Given the description of an element on the screen output the (x, y) to click on. 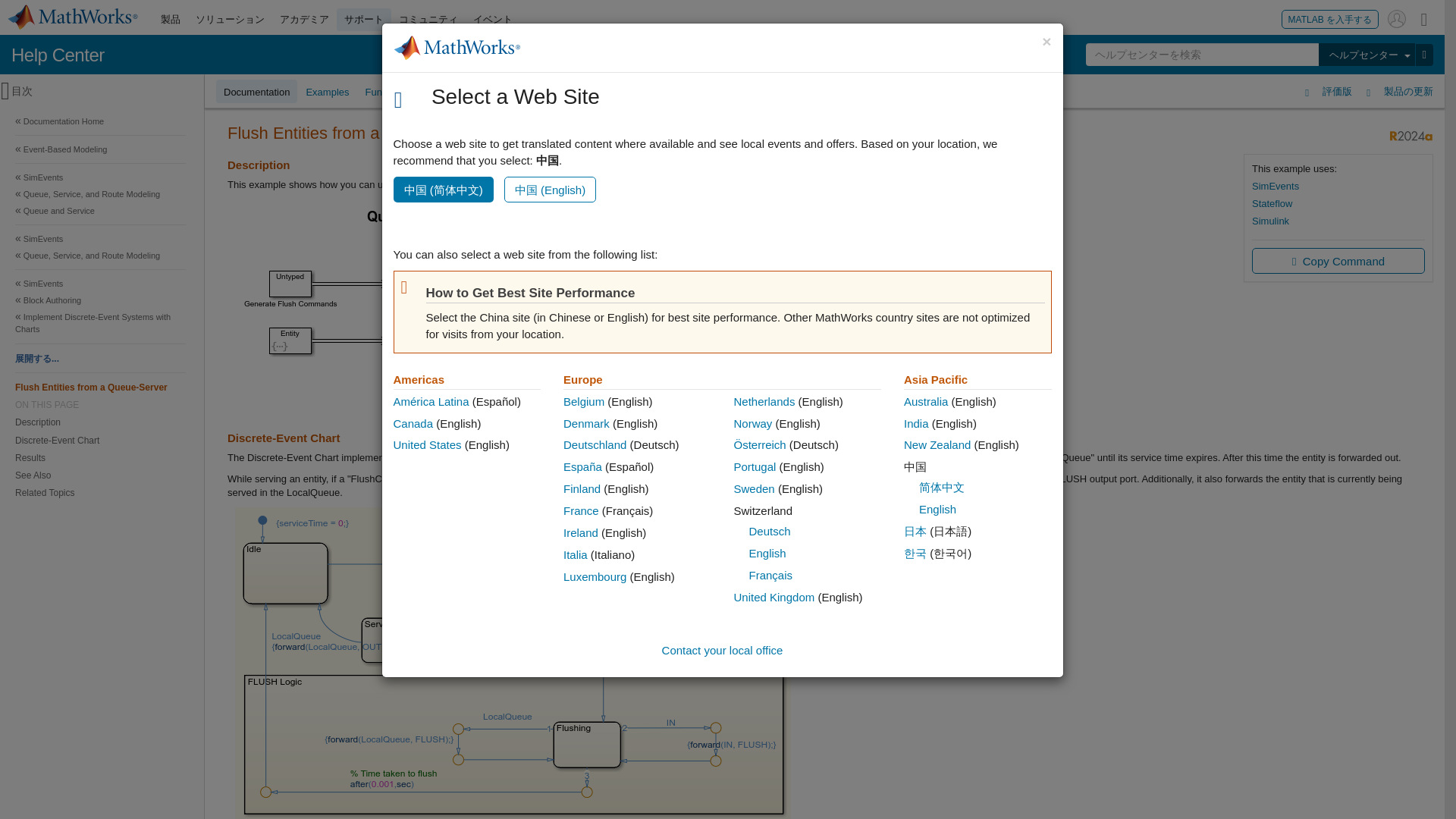
Flush Entities from a Queue-Server (100, 386)
Matrix Menu (1423, 18)
ON THIS PAGE (100, 404)
